Given the description of an element on the screen output the (x, y) to click on. 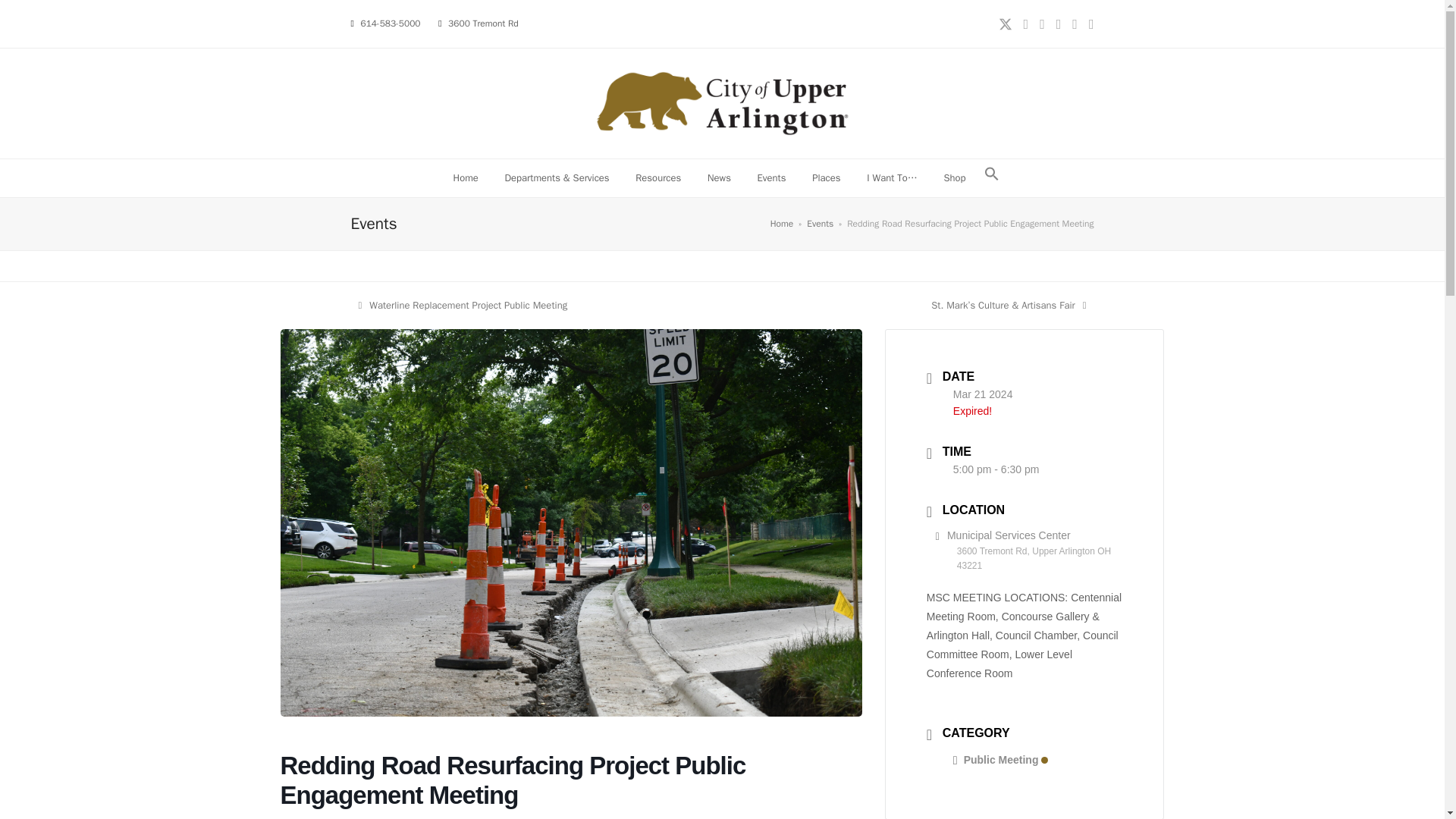
Shop (953, 177)
Home (781, 223)
Events (819, 223)
Home (465, 177)
Public Meeting  (1000, 759)
Events (771, 177)
News (718, 177)
Resources (658, 177)
Places (462, 304)
